Given the description of an element on the screen output the (x, y) to click on. 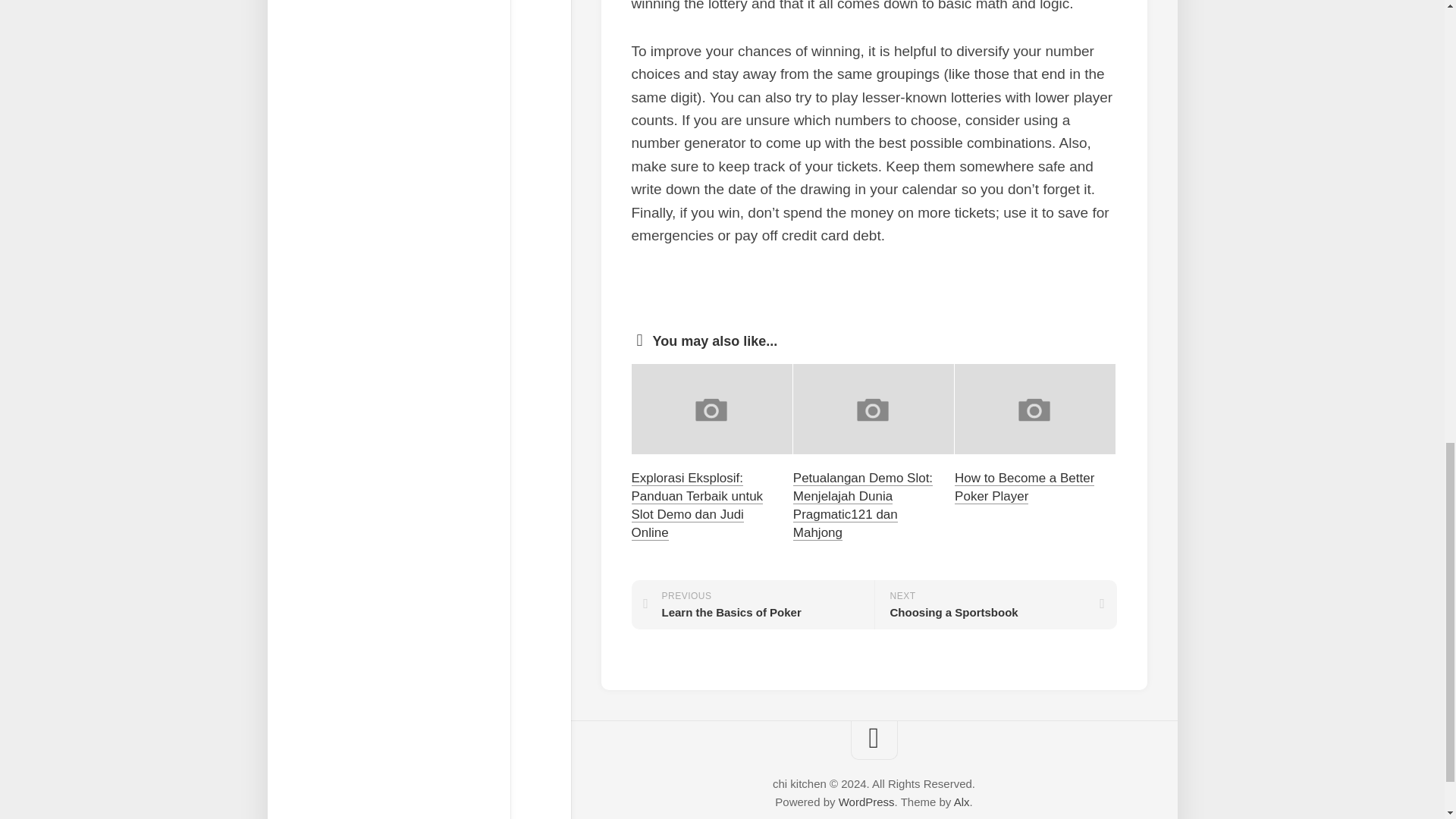
Alx (994, 604)
How to Become a Better Poker Player (961, 801)
WordPress (1024, 486)
